Given the description of an element on the screen output the (x, y) to click on. 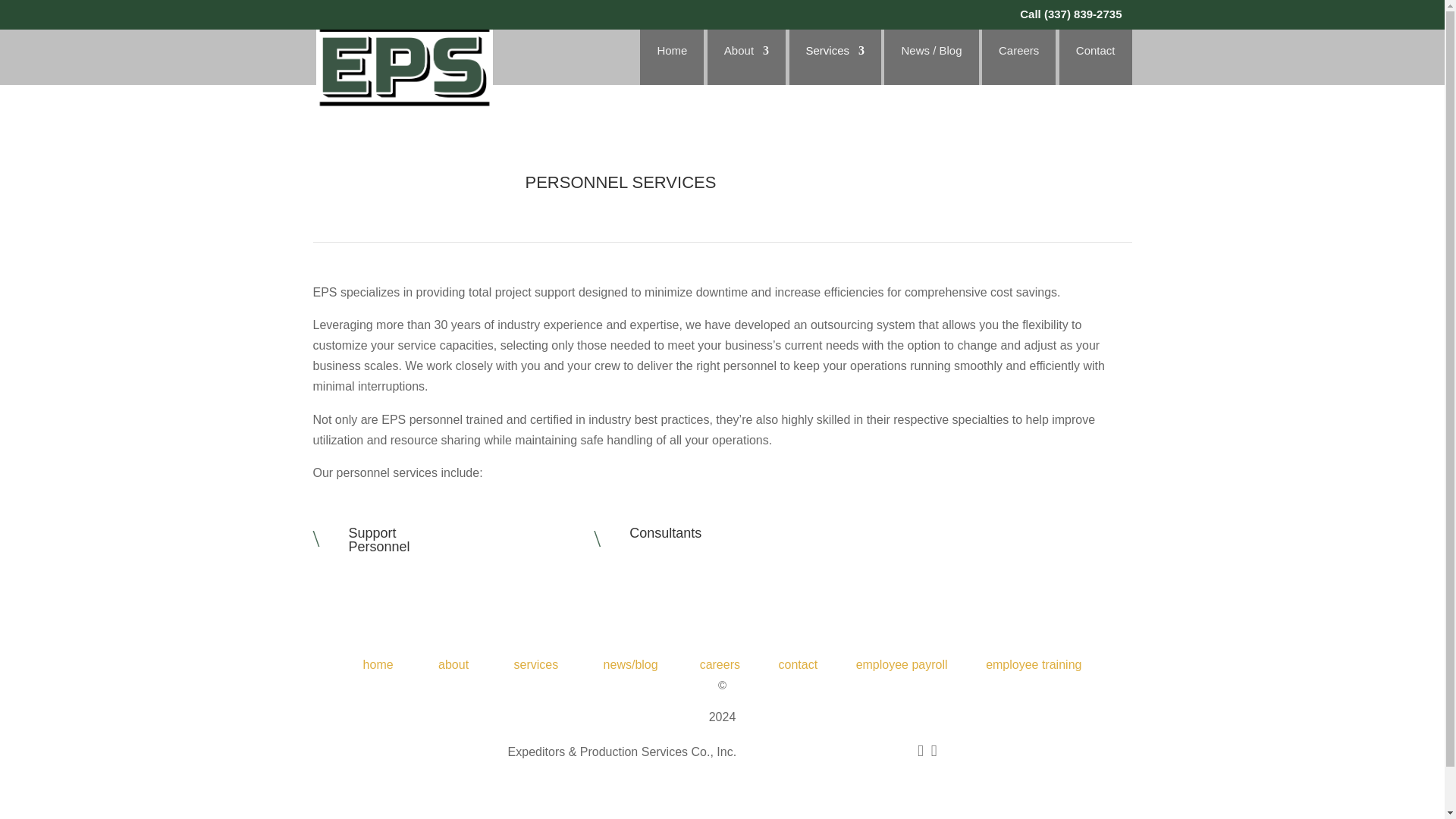
Privacy Policy (790, 751)
Careers (1018, 65)
about (453, 664)
careers (719, 664)
Contact (379, 539)
Services (1095, 65)
home (834, 65)
About (377, 664)
Comit Developers (745, 65)
